Given the description of an element on the screen output the (x, y) to click on. 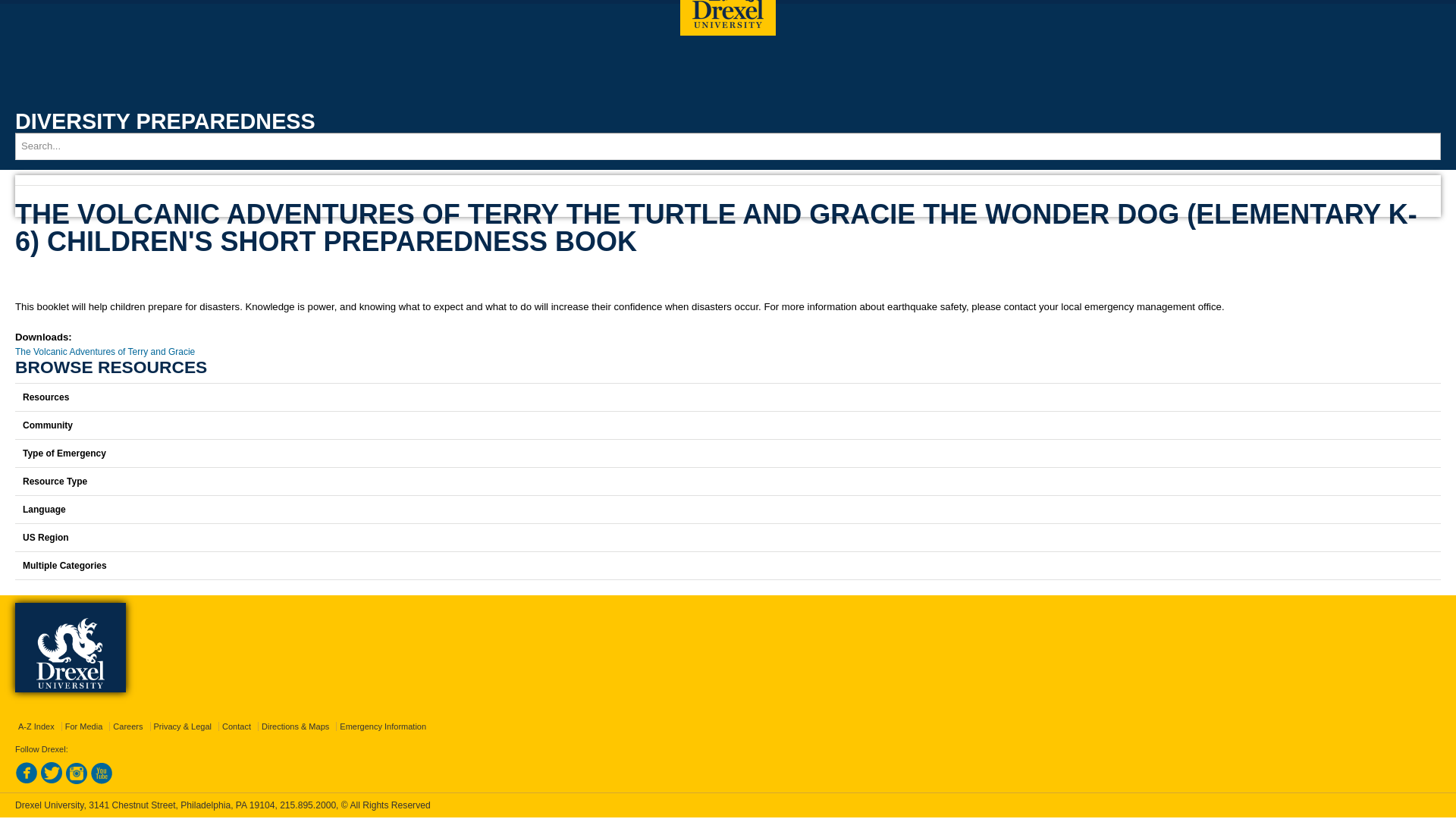
Resources (727, 397)
The Volcanic Adventures of Terry and Gracie (104, 351)
DIVERSITY PREPAREDNESS (164, 120)
Type of Emergency (727, 452)
Language (727, 509)
Community (727, 425)
DREXEL UNIVERSITY (727, 18)
Resource Type (727, 481)
US Region (727, 537)
